Given the description of an element on the screen output the (x, y) to click on. 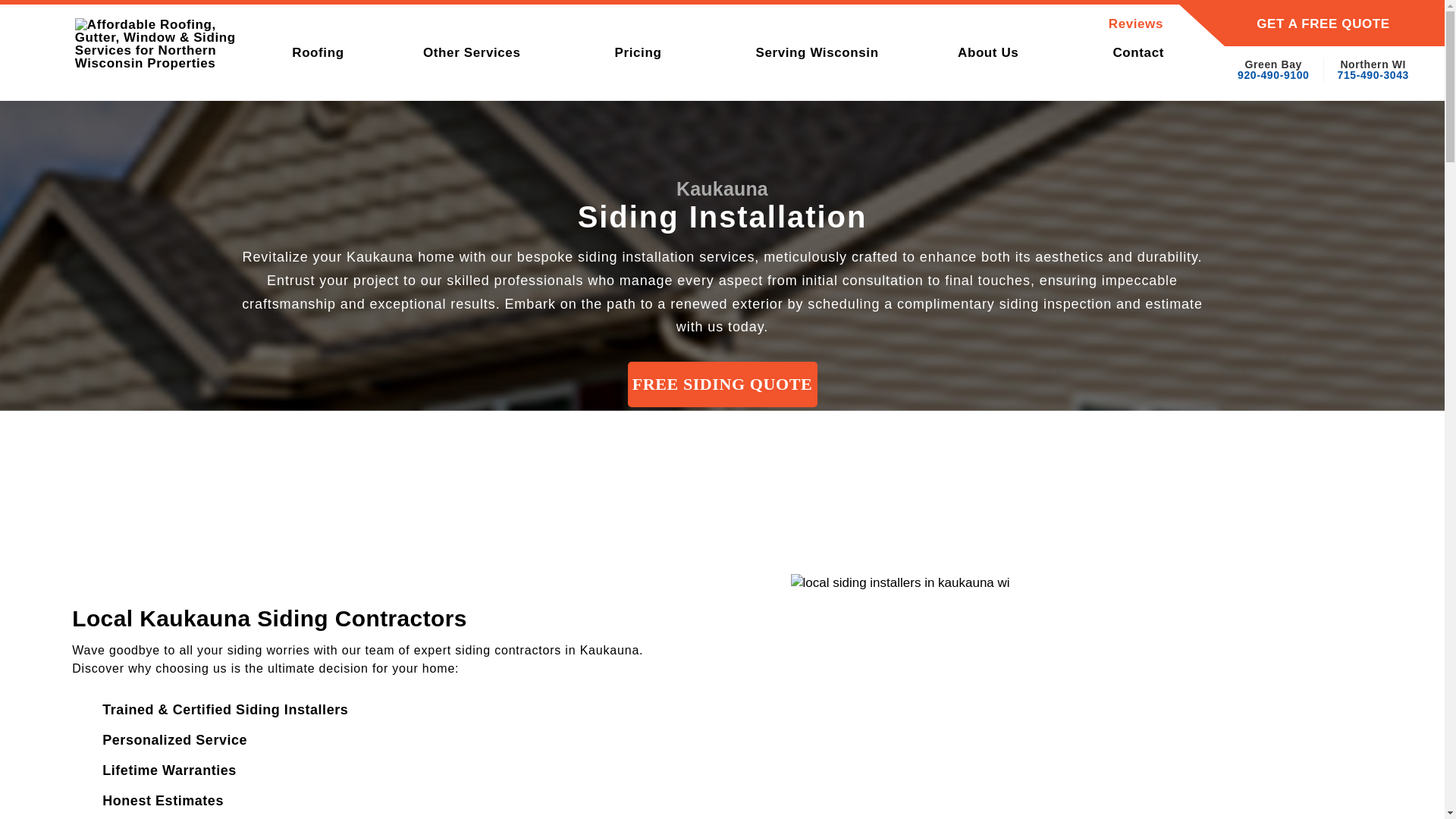
Serving Wisconsin (816, 52)
Reviews (1075, 23)
FREE SIDING QUOTE (721, 384)
Read our glowing reviews (1075, 23)
